Given the description of an element on the screen output the (x, y) to click on. 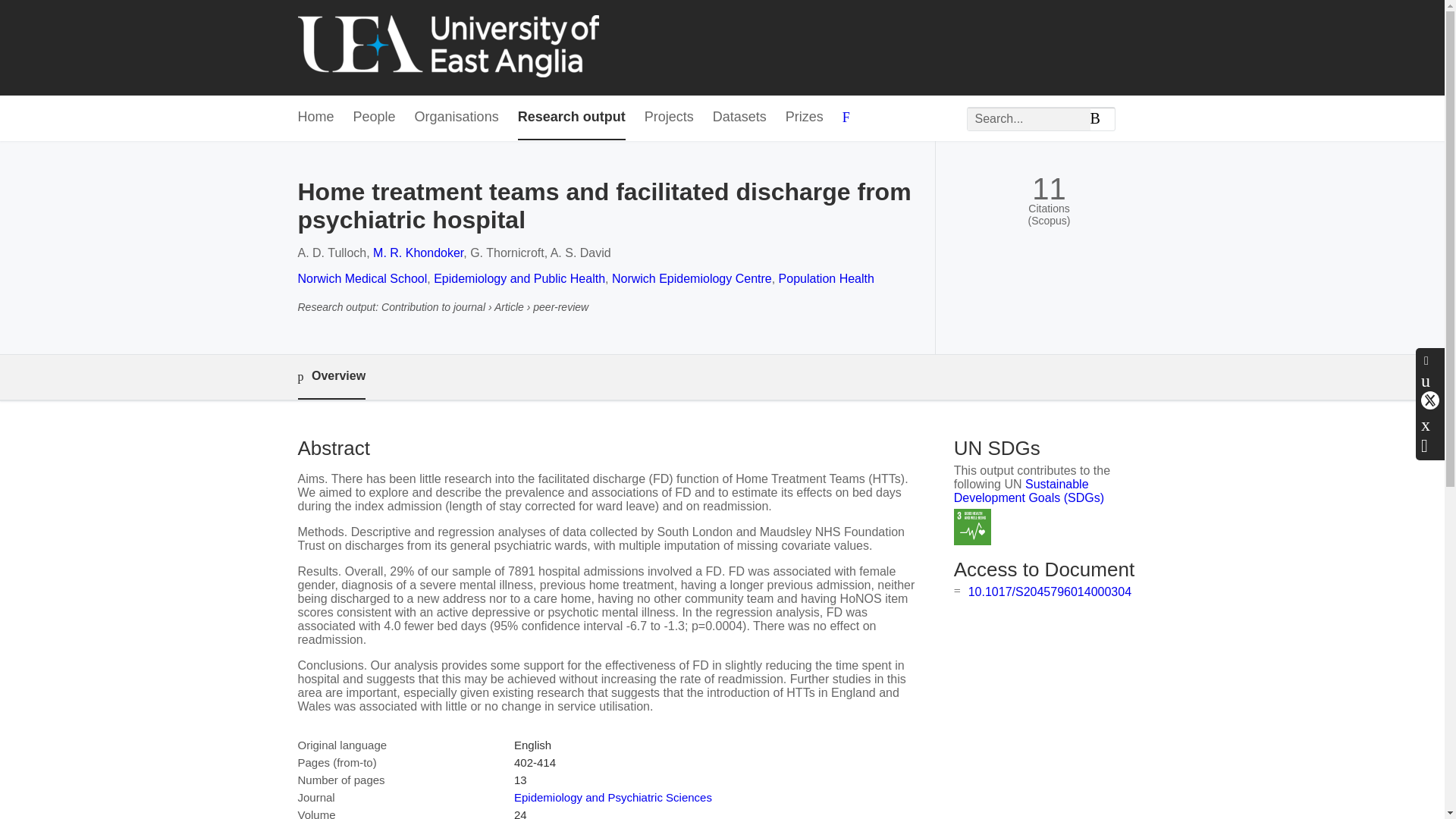
Population Health (826, 278)
People (374, 117)
Overview (331, 376)
SDG 3 - Good Health and Well-being (972, 527)
Organisations (456, 117)
Norwich Medical School (361, 278)
University of East Anglia Home (447, 47)
Epidemiology and Public Health (519, 278)
M. R. Khondoker (417, 252)
